Given the description of an element on the screen output the (x, y) to click on. 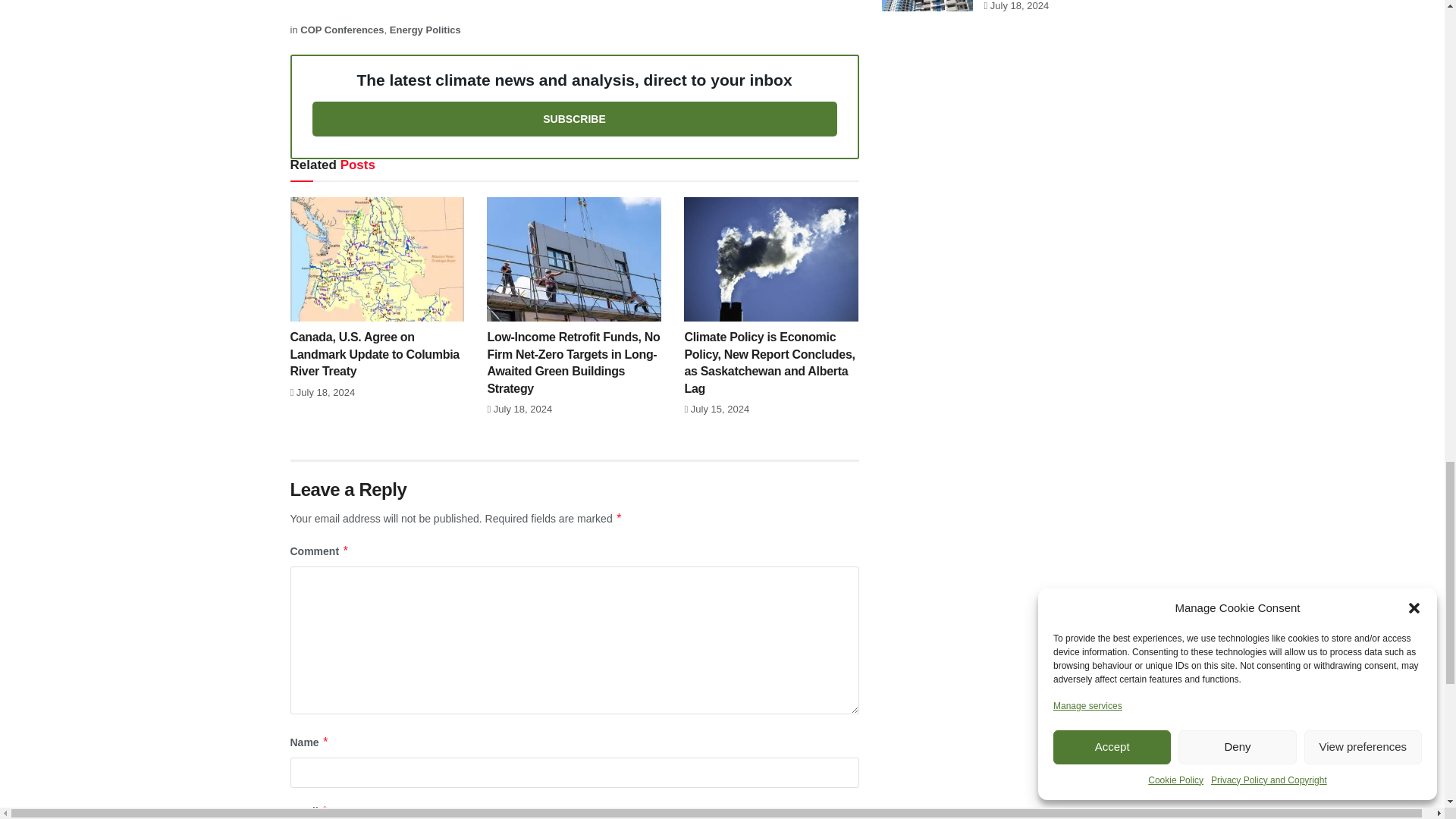
View Subscription Options (575, 118)
